Given the description of an element on the screen output the (x, y) to click on. 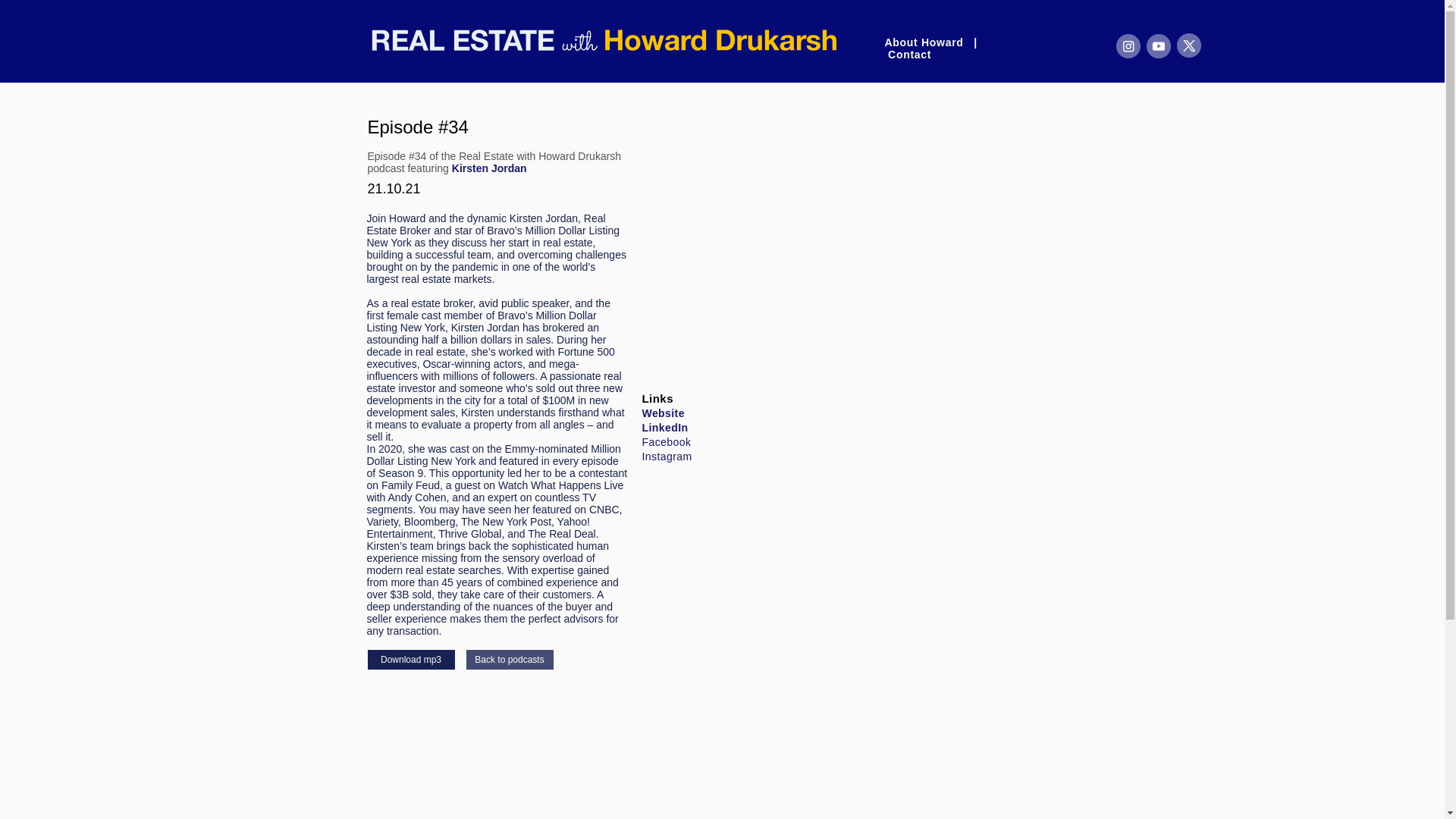
Contact (909, 54)
Download mp3 (410, 659)
Back to podcasts (509, 659)
Website (663, 413)
Instagram (666, 456)
LinkedIn (664, 427)
About Howard  (924, 42)
Facebook (666, 441)
